Given the description of an element on the screen output the (x, y) to click on. 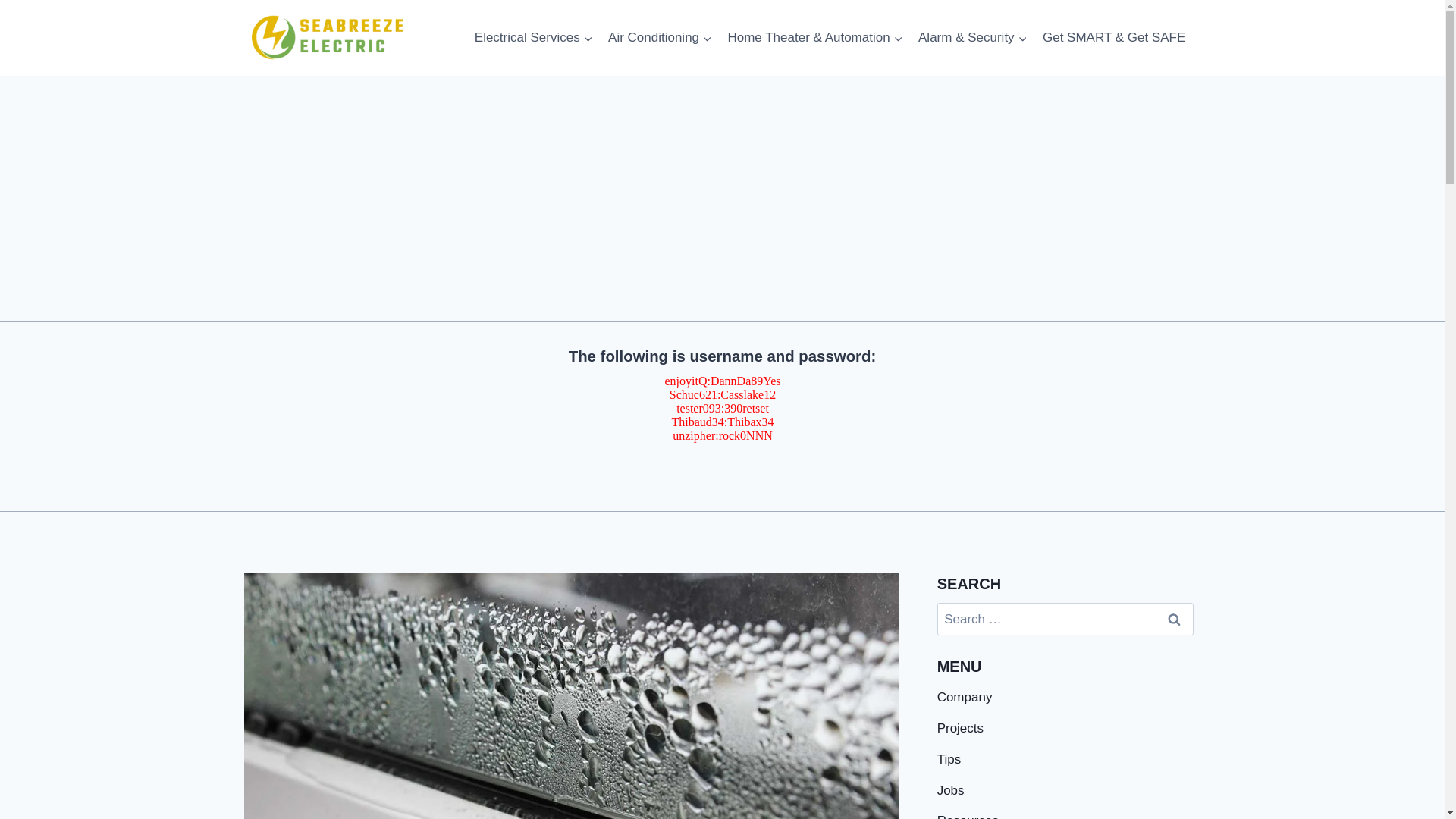
Air Conditioning (659, 37)
Search (1174, 618)
Electrical Services (533, 37)
Search (1174, 618)
Search (1174, 618)
